Given the description of an element on the screen output the (x, y) to click on. 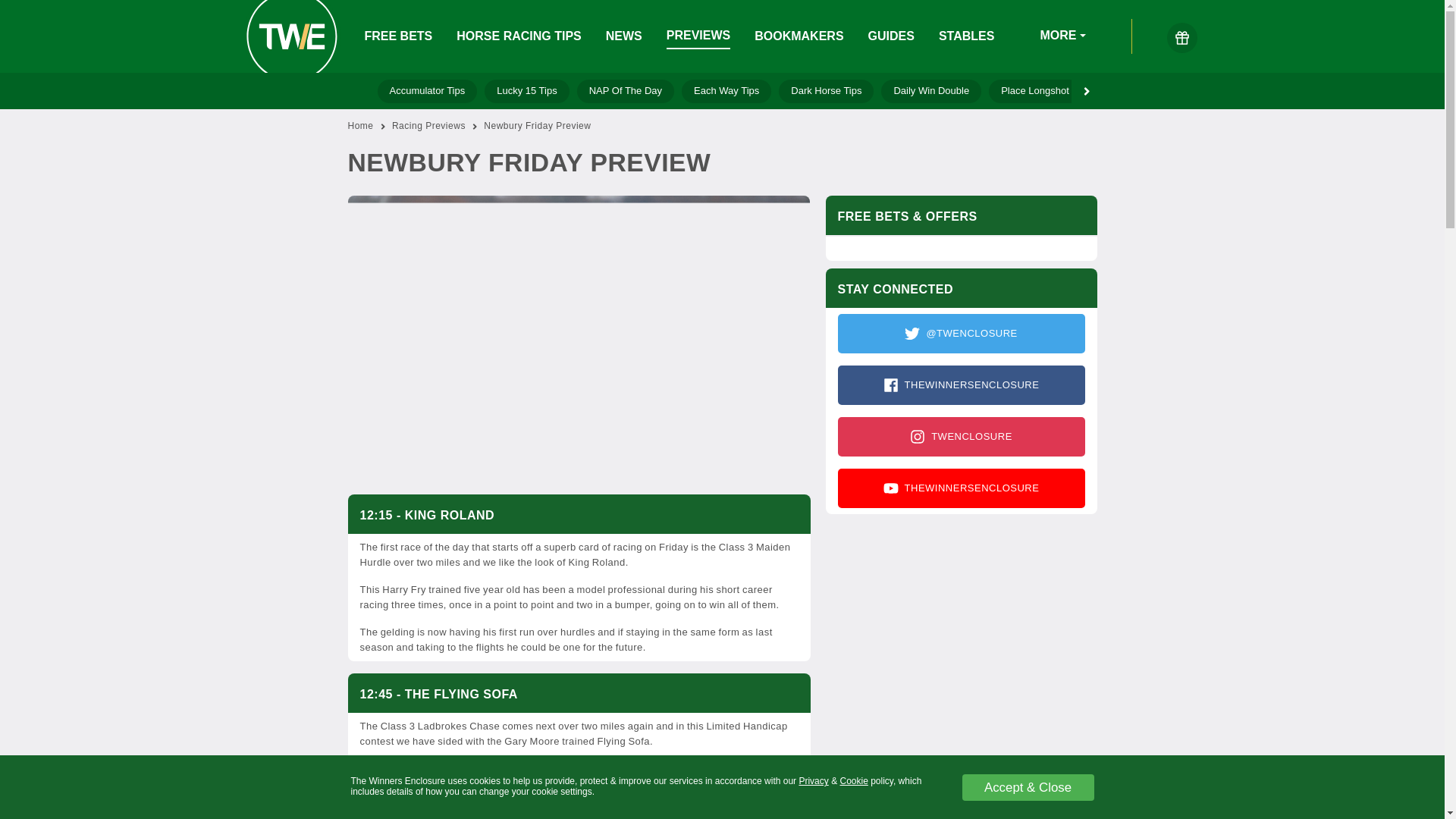
PREVIEWS (698, 36)
  THEWINNERSENCLOSURE (960, 384)
FREE BETS (398, 36)
GUIDES (890, 36)
Home (359, 126)
  TWENCLOSURE (960, 436)
Request A Bet (1131, 91)
Place Longshot (1034, 91)
NAP Of The Day (625, 91)
Stay Connected (960, 410)
Lucky 15 Tips (526, 91)
HORSE RACING TIPS (518, 36)
  THEWINNERSENCLOSURE (960, 487)
Daily Win Double (930, 91)
Racing Previews (428, 126)
